Given the description of an element on the screen output the (x, y) to click on. 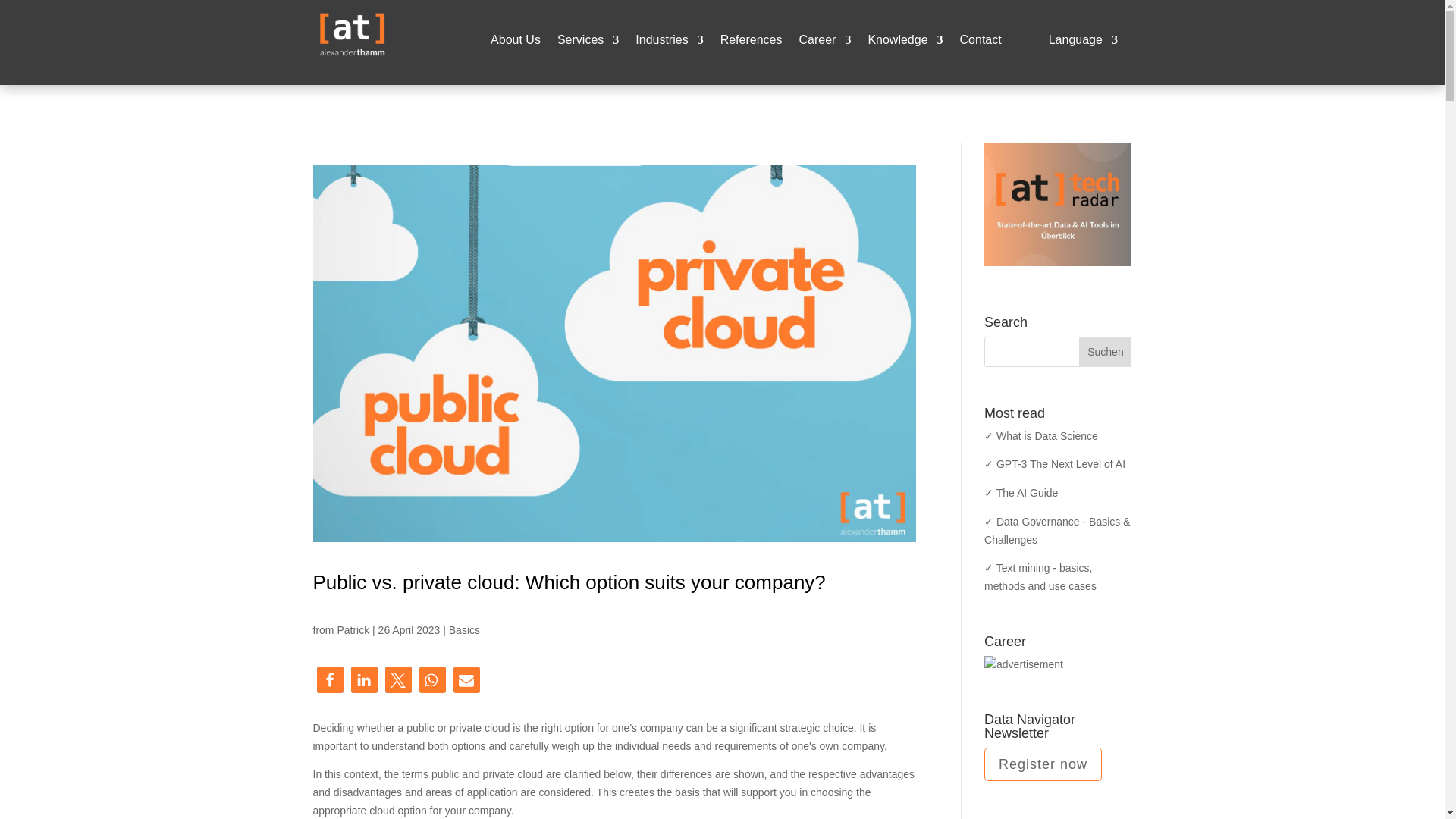
Share on Facebook (330, 679)
Patrick (352, 630)
Send by email (466, 679)
Industries (668, 43)
Suchen (1104, 351)
Share on LinkedIn (363, 679)
Contributions by Patrick (352, 630)
Basics (464, 630)
Public and Private Cloud (614, 538)
Contact (980, 43)
